Given the description of an element on the screen output the (x, y) to click on. 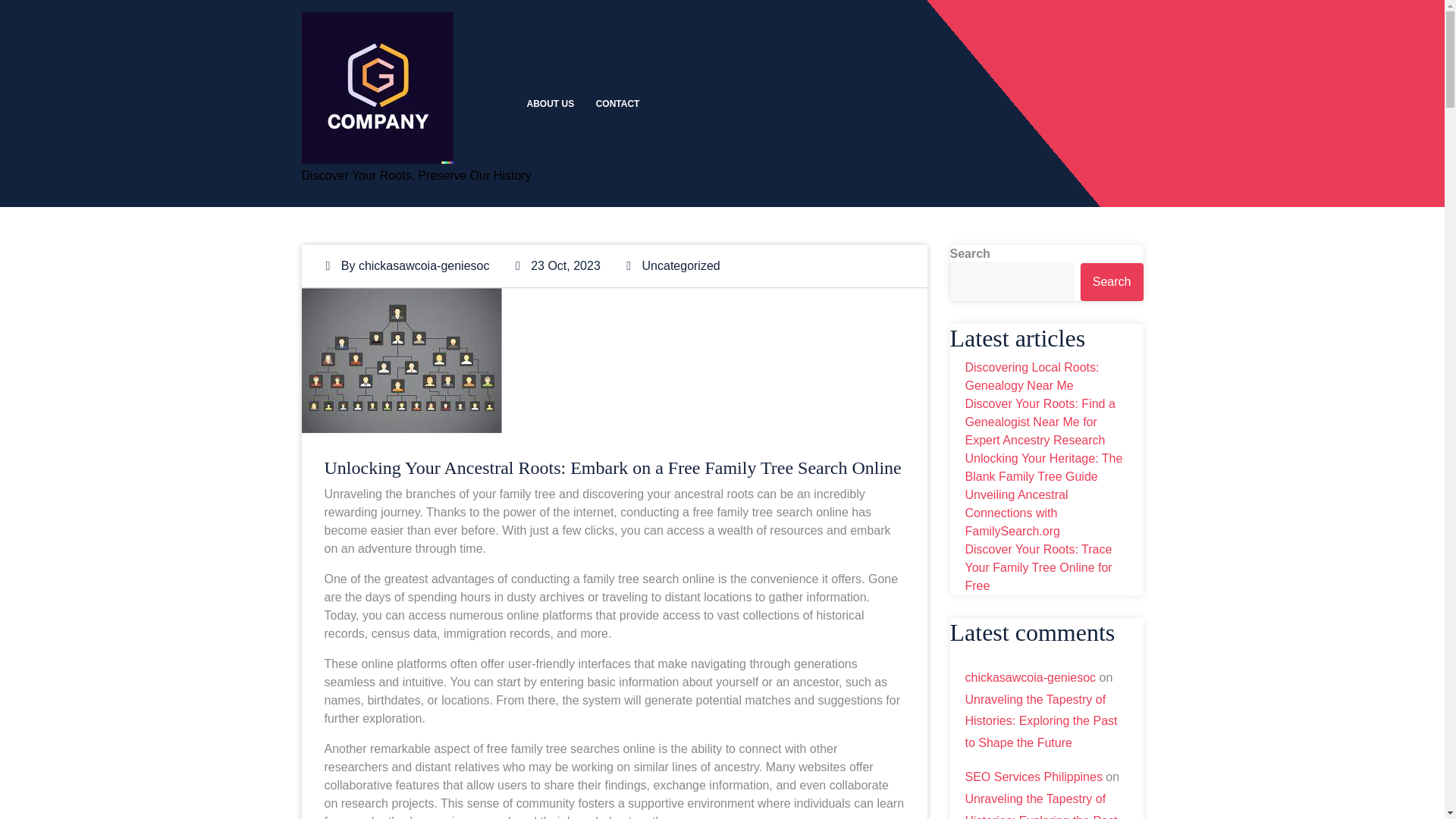
23 Oct, 2023 (557, 265)
Unlocking Your Heritage: The Blank Family Tree Guide (1042, 467)
Discover Your Roots: Trace Your Family Tree Online for Free (1037, 567)
Search (1111, 281)
ABOUT US (549, 103)
CONTACT (617, 103)
Uncategorized (681, 265)
chickasawcoia-geniesoc (423, 265)
